Given the description of an element on the screen output the (x, y) to click on. 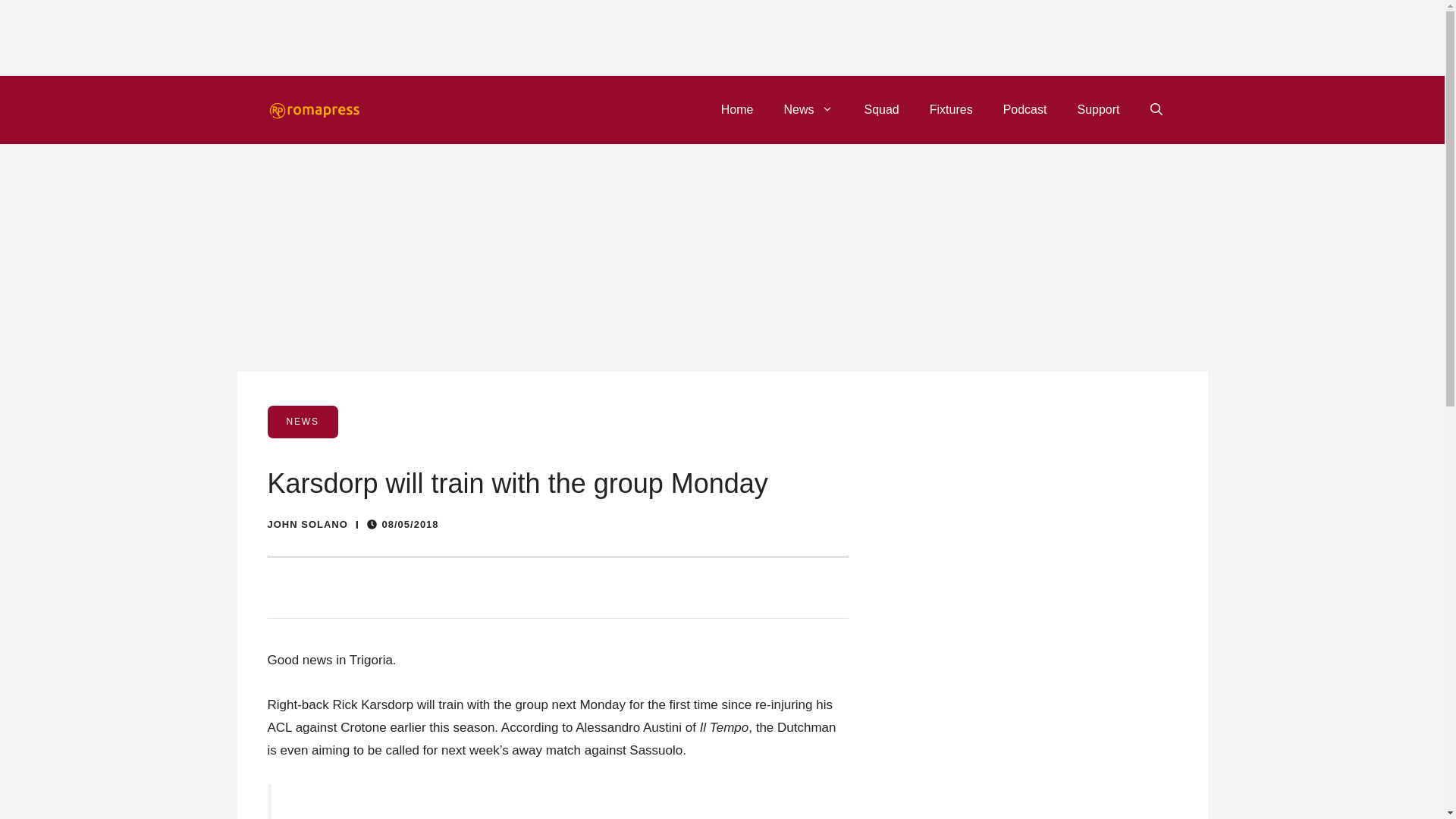
Home (737, 109)
Support (1097, 109)
Fixtures (951, 109)
Squad (881, 109)
News (808, 109)
Podcast (1025, 109)
